Given the description of an element on the screen output the (x, y) to click on. 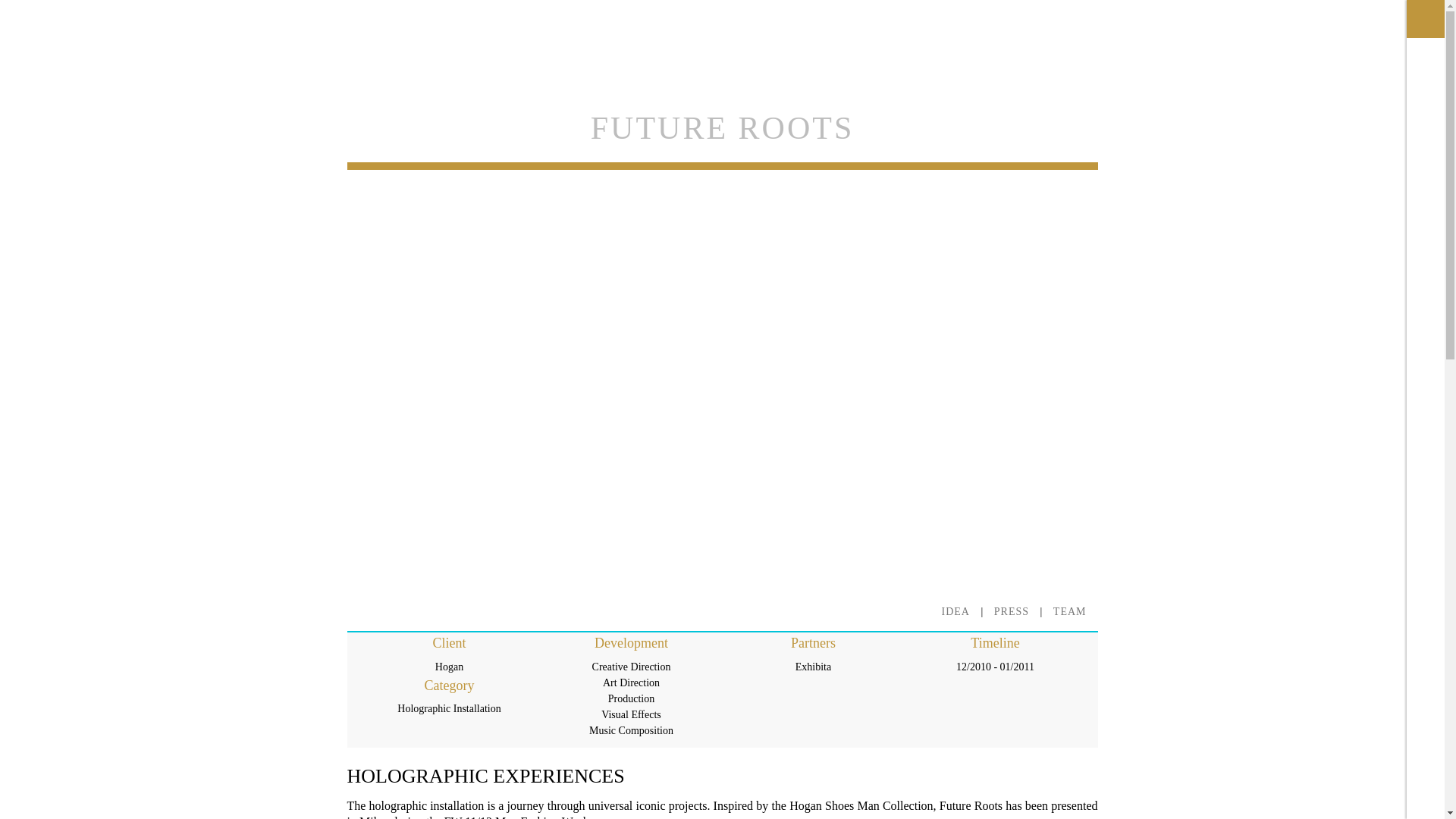
TEAM (1069, 611)
PRESS (1011, 611)
IDEA (955, 611)
